Given the description of an element on the screen output the (x, y) to click on. 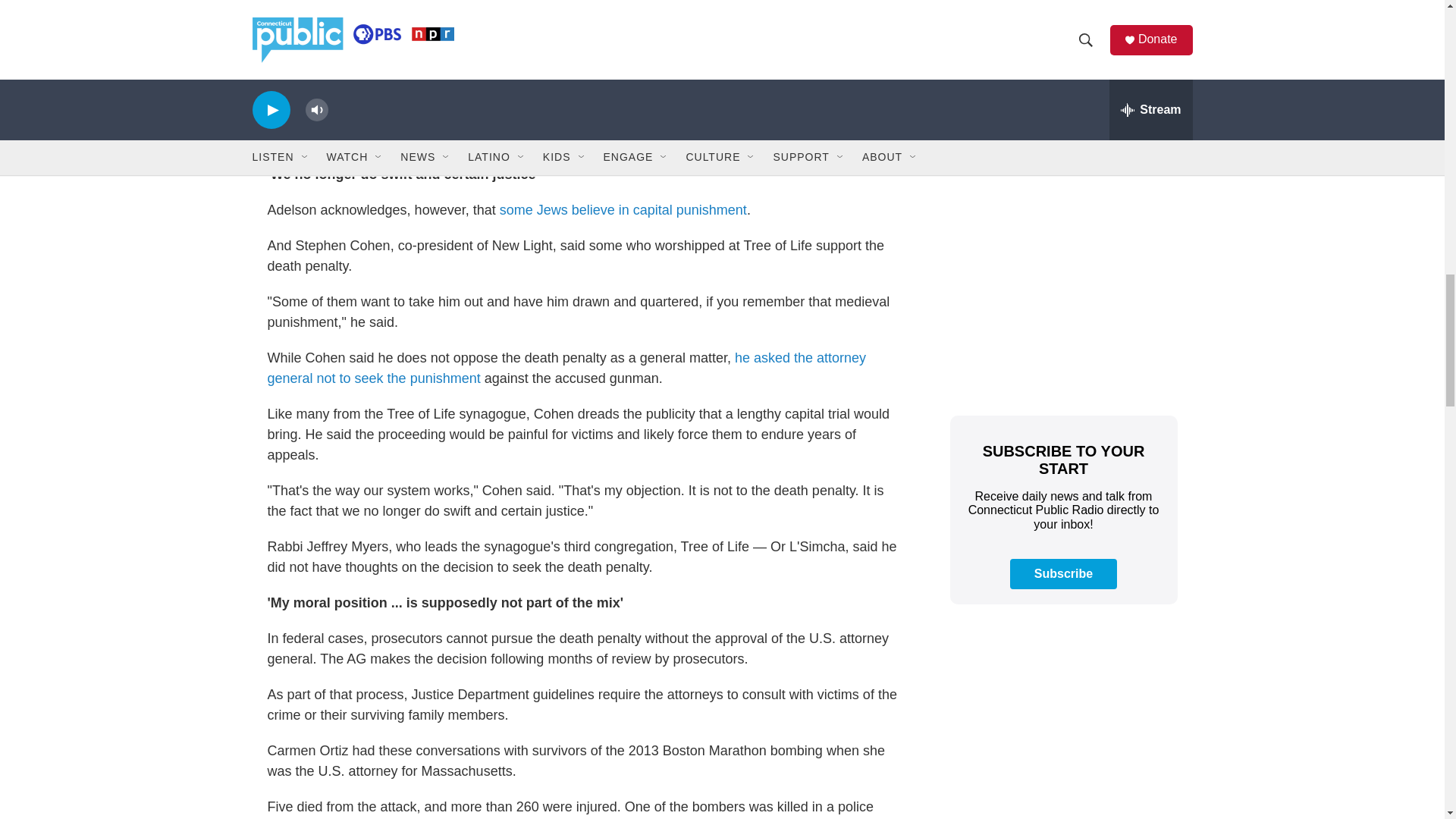
3rd party ad content (1062, 726)
3rd party ad content (585, 8)
3rd party ad content (1062, 82)
3rd party ad content (1062, 289)
